Given the description of an element on the screen output the (x, y) to click on. 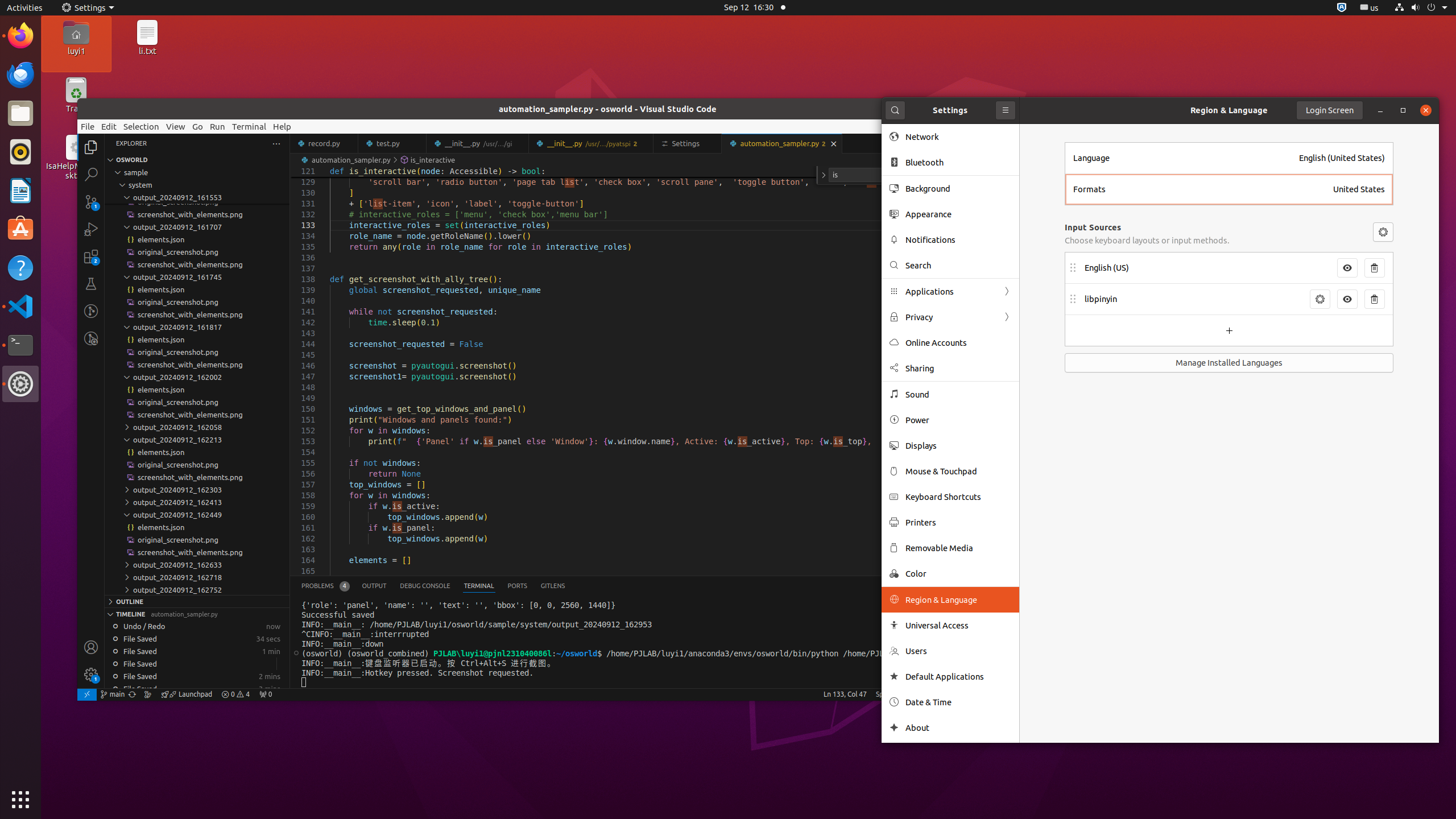
Maximize Element type: push-button (1402, 109)
Language Element type: label (1182, 157)
Primary Menu Element type: toggle-button (1005, 110)
Bluetooth Element type: label (958, 162)
